Given the description of an element on the screen output the (x, y) to click on. 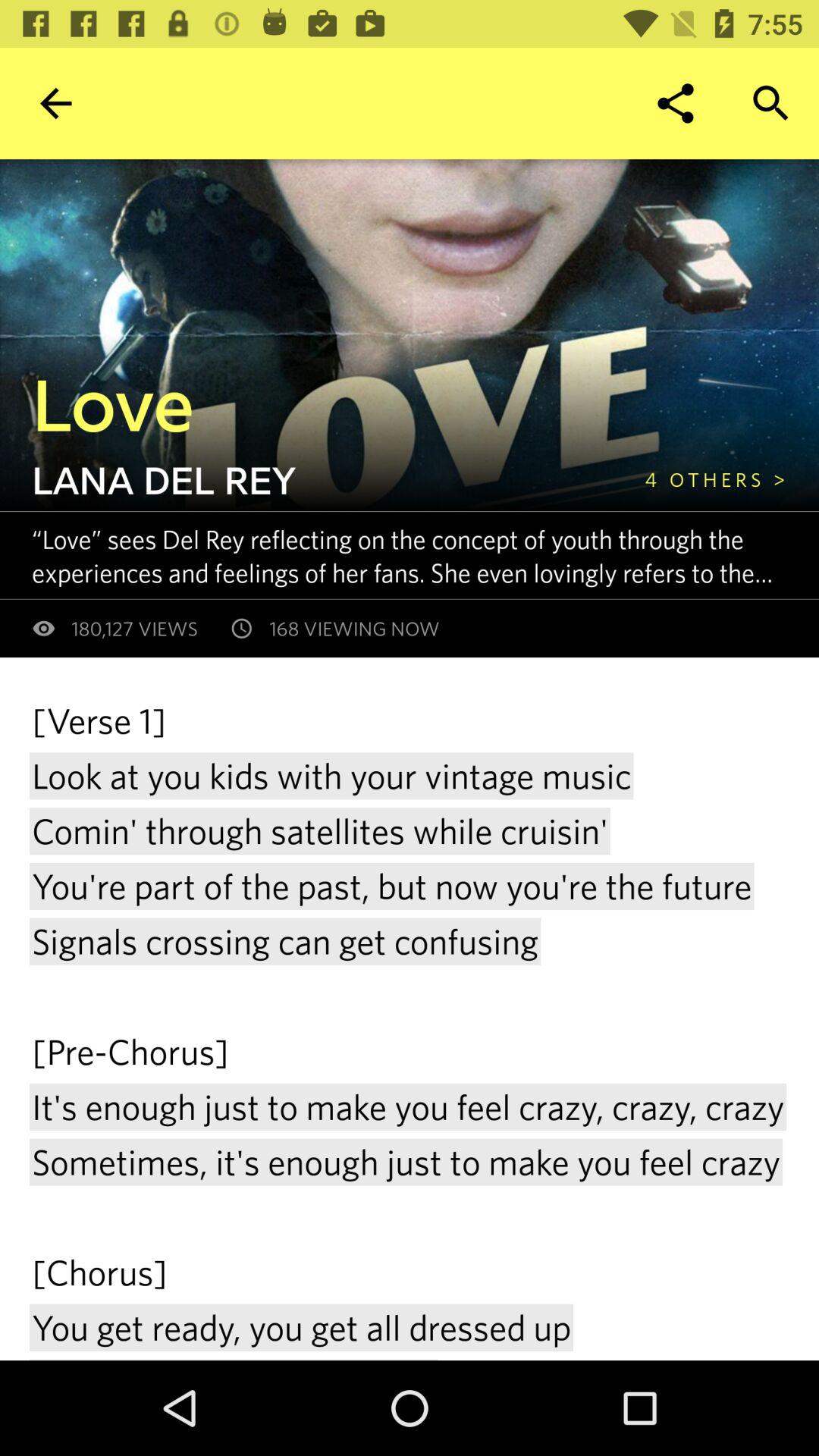
choose icon next to the lana del rey icon (715, 479)
